Given the description of an element on the screen output the (x, y) to click on. 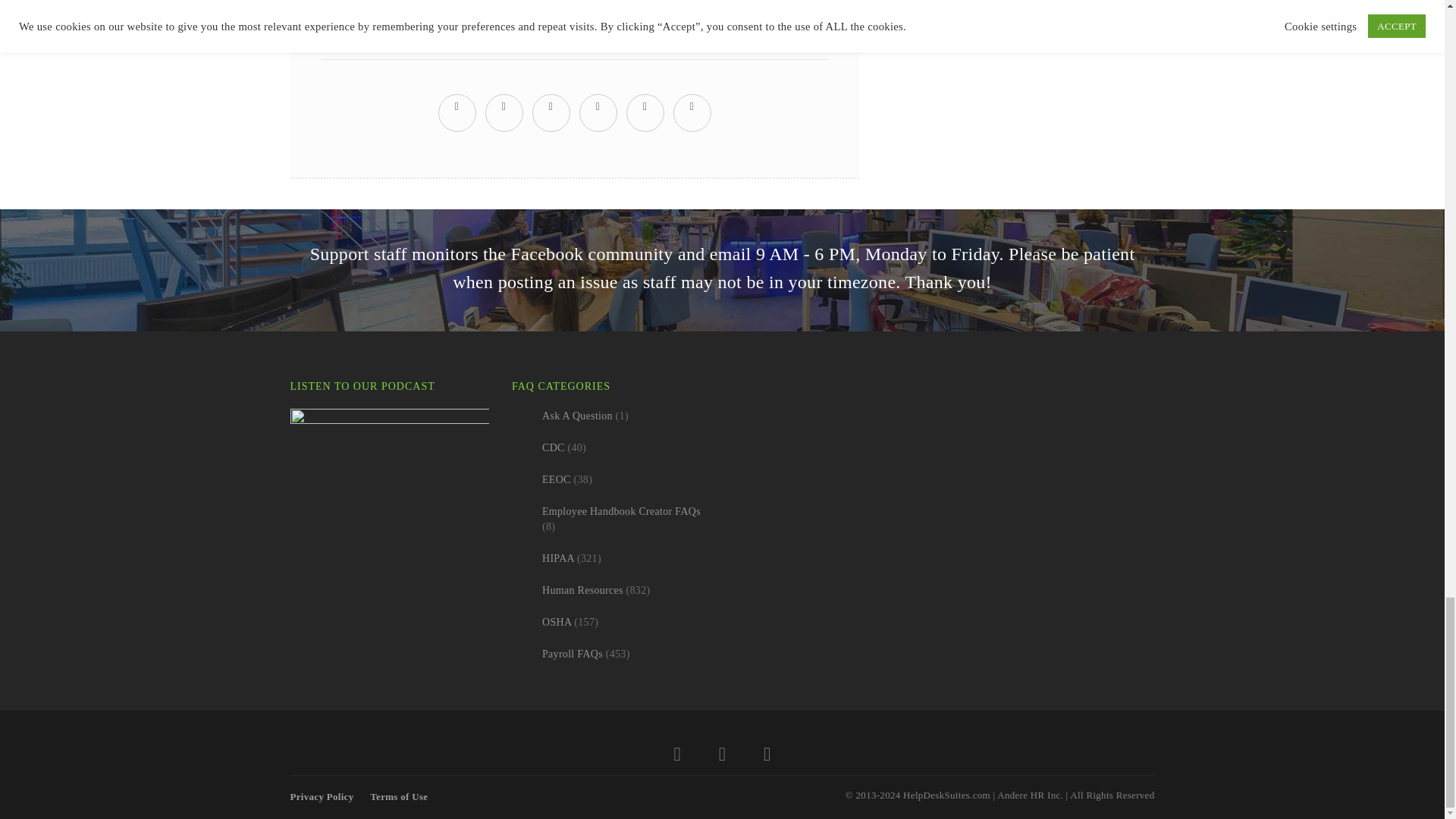
facebook (503, 106)
Twitter (677, 756)
Facebook (721, 756)
Linkedin (766, 756)
